Given the description of an element on the screen output the (x, y) to click on. 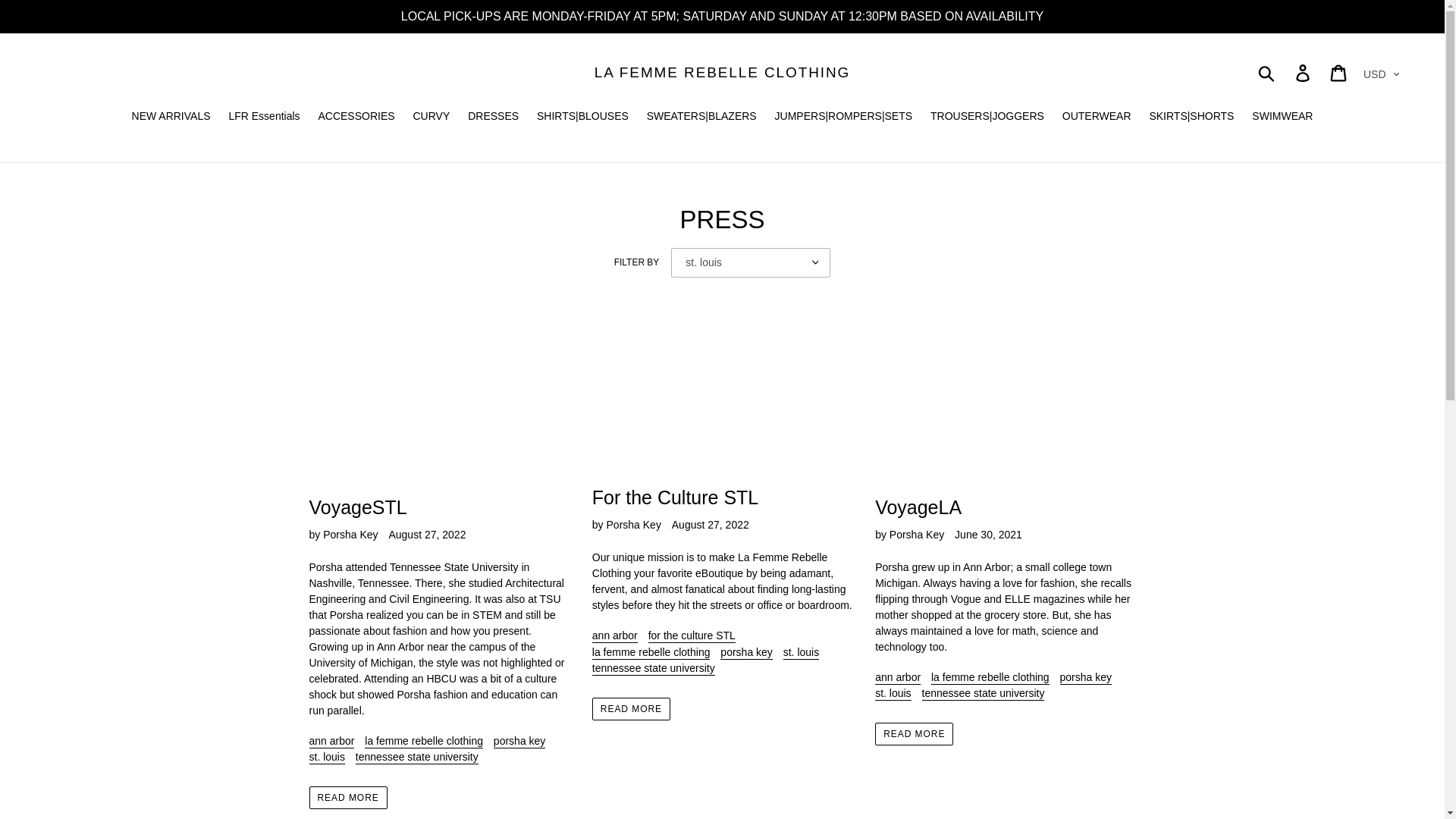
st. louis (326, 757)
LA FEMME REBELLE CLOTHING (722, 72)
SWIMWEAR (1282, 117)
ann arbor (331, 741)
DRESSES (492, 117)
tennessee state university (417, 757)
Log in (1303, 72)
VoyageSTL (438, 418)
ACCESSORIES (355, 117)
CURVY (430, 117)
Submit (1267, 72)
NEW ARRIVALS (170, 117)
LFR Essentials (264, 117)
la femme rebelle clothing (424, 741)
OUTERWEAR (1096, 117)
